Given the description of an element on the screen output the (x, y) to click on. 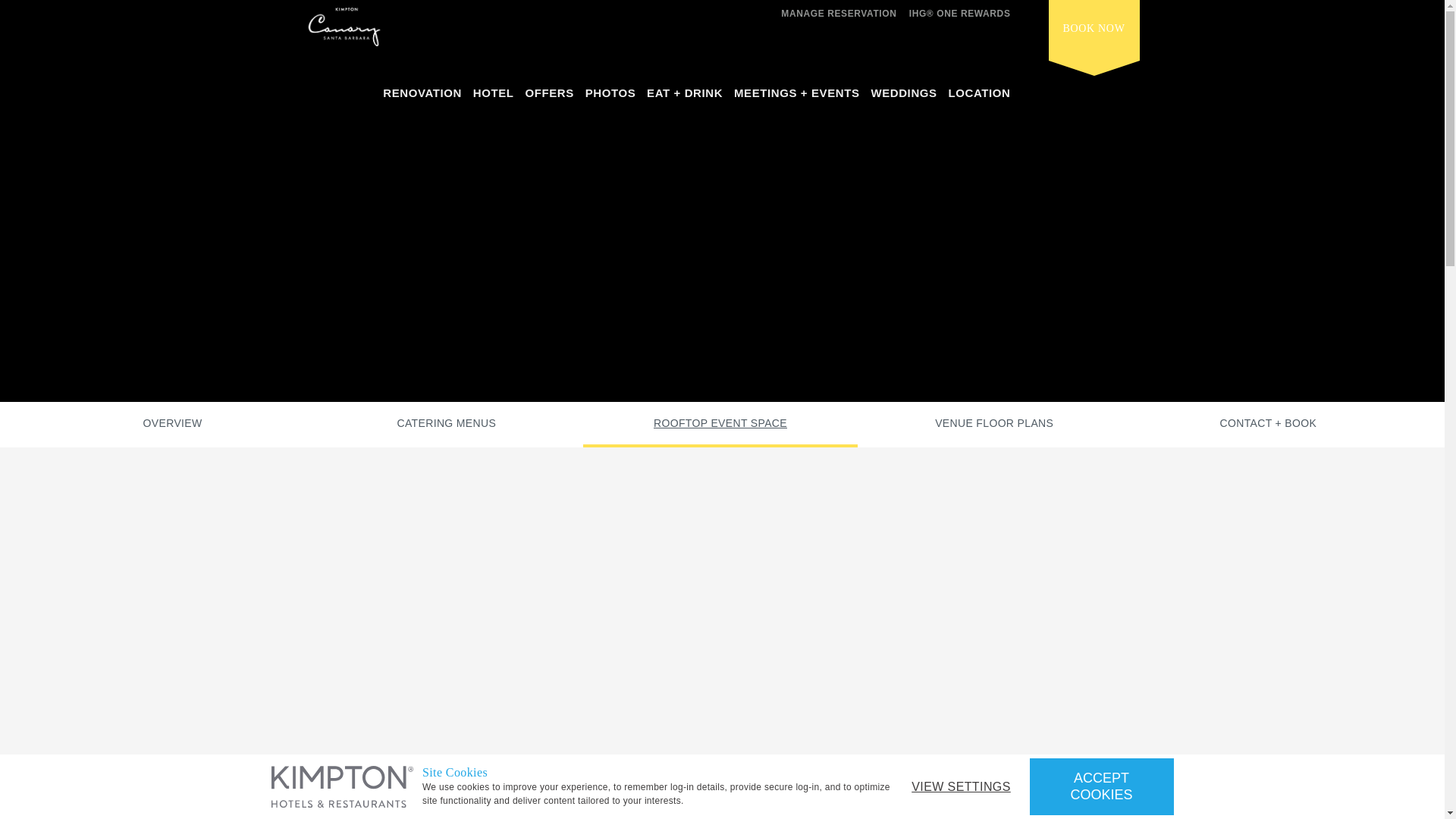
RENOVATION (421, 97)
Home (343, 30)
PHOTOS (610, 97)
WEDDINGS (903, 97)
OFFERS (548, 97)
HOTEL (493, 97)
